Given the description of an element on the screen output the (x, y) to click on. 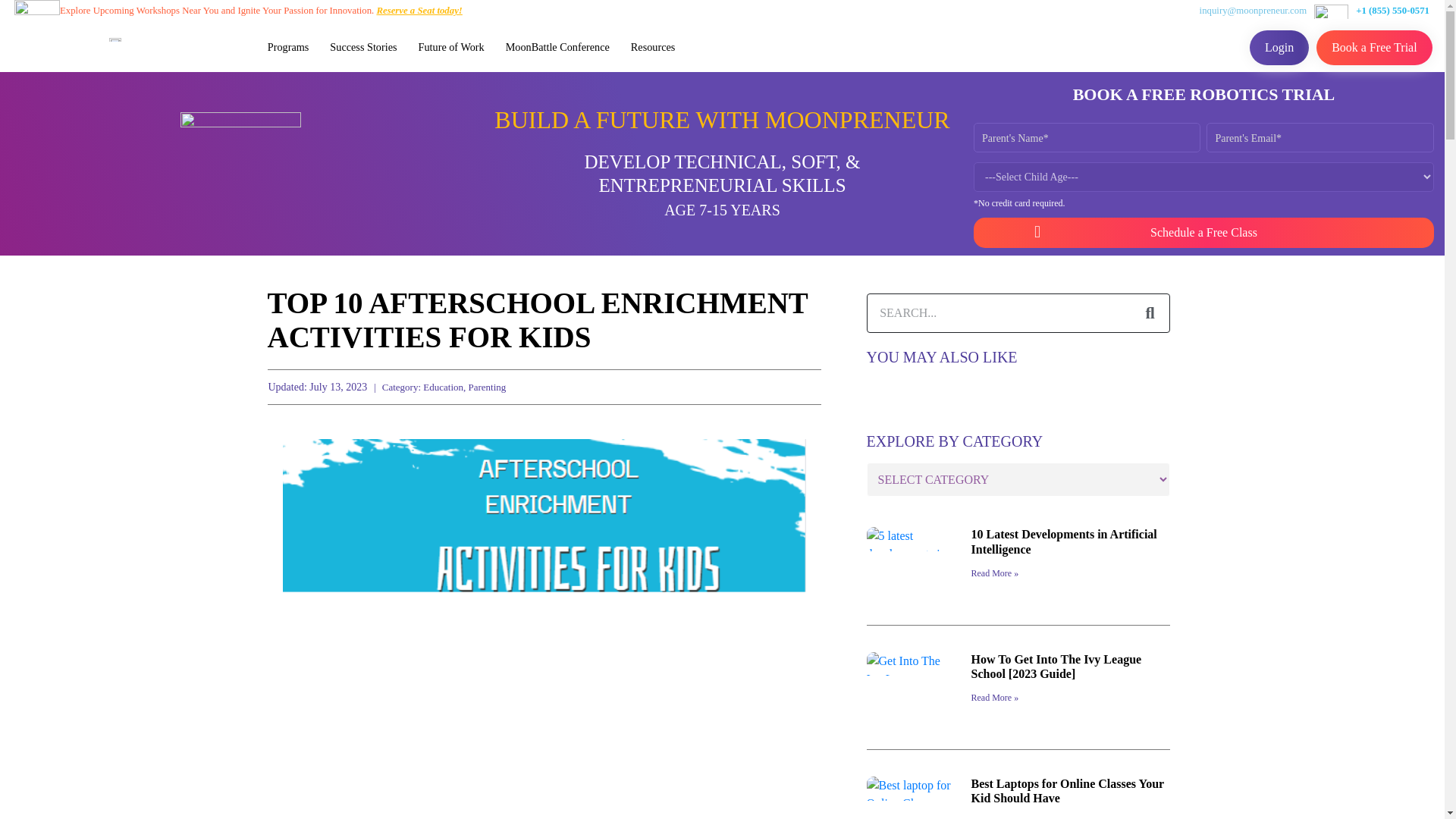
Future of Work (451, 45)
Success Stories (362, 45)
Reserve a Seat today! (418, 9)
Programs (288, 45)
Resources (652, 45)
MoonBattle Conference (557, 45)
